Given the description of an element on the screen output the (x, y) to click on. 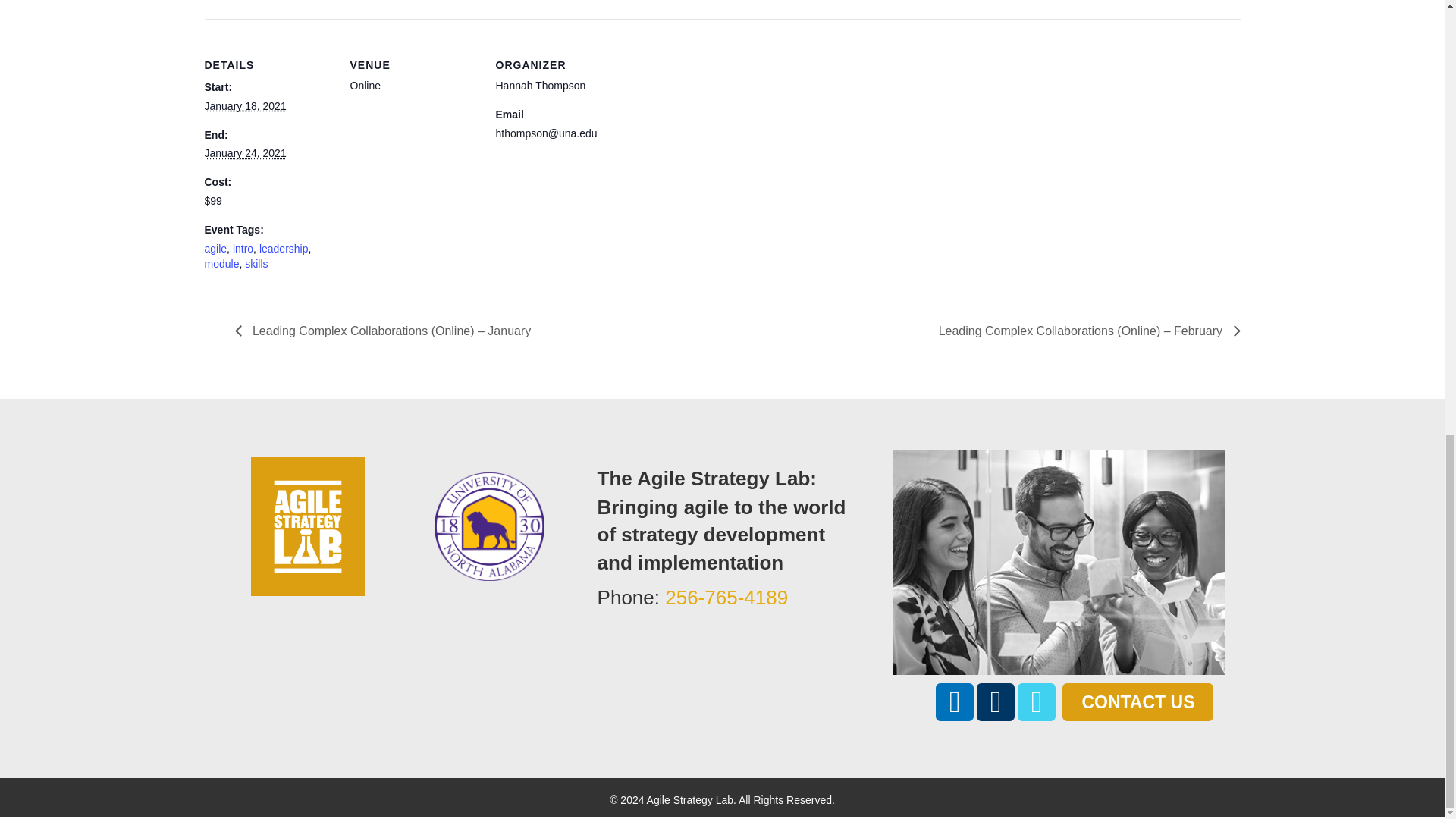
2021-01-24 (245, 152)
UNA-roundLionPurpleW (488, 526)
2021-01-18 (245, 105)
